Given the description of an element on the screen output the (x, y) to click on. 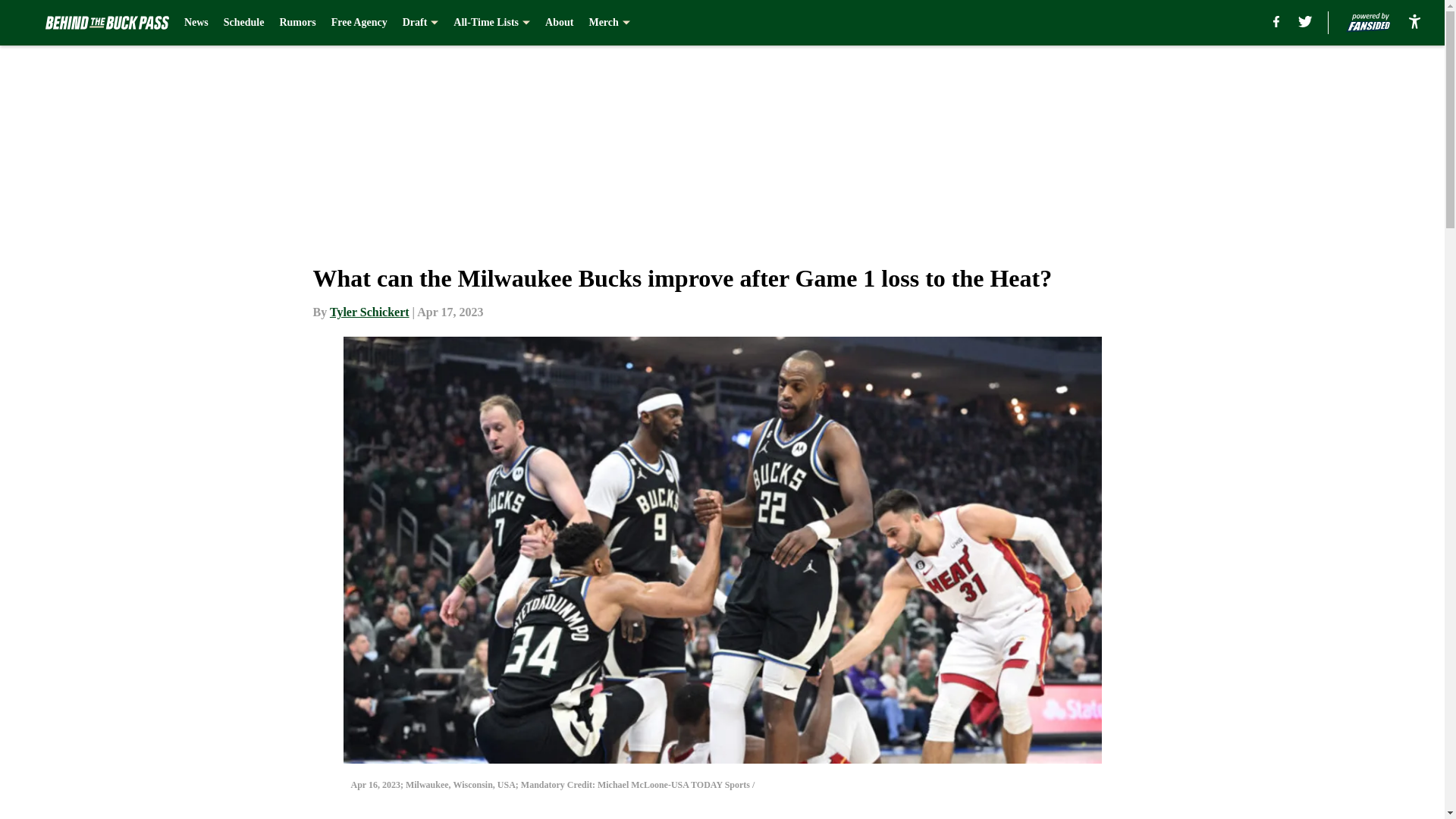
Schedule (244, 22)
News (196, 22)
Free Agency (359, 22)
Rumors (297, 22)
Tyler Schickert (369, 311)
All-Time Lists (490, 22)
Draft (421, 22)
About (558, 22)
